Given the description of an element on the screen output the (x, y) to click on. 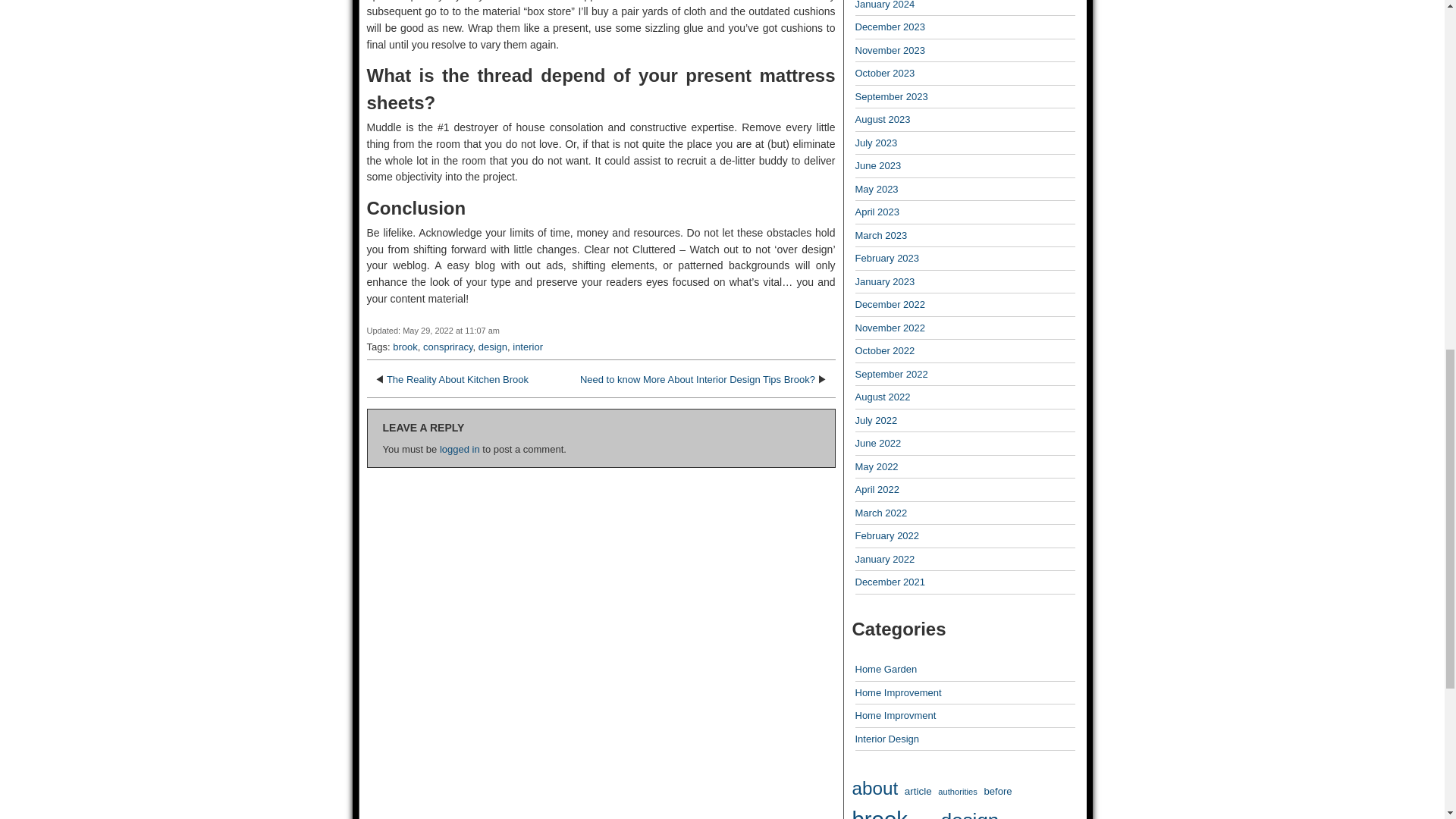
design (492, 346)
October 2023 (885, 72)
Need to know More About Interior Design Tips Brook? (697, 378)
logged in (459, 449)
brook (405, 346)
December 2023 (891, 26)
January 2024 (885, 4)
September 2023 (892, 96)
conspriracy (448, 346)
The Reality About Kitchen Brook (457, 378)
